Given the description of an element on the screen output the (x, y) to click on. 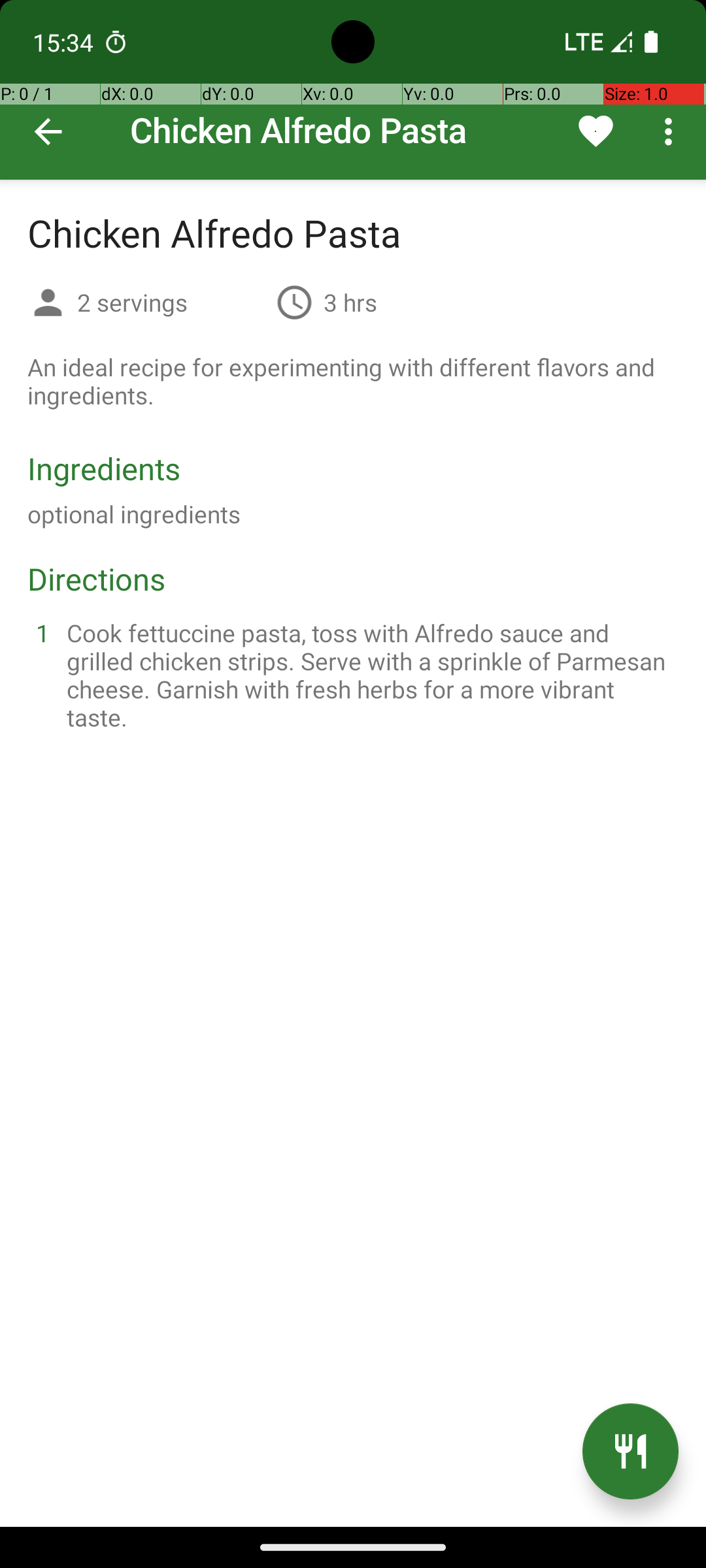
Cook fettuccine pasta, toss with Alfredo sauce and grilled chicken strips. Serve with a sprinkle of Parmesan cheese. Garnish with fresh herbs for a more vibrant taste. Element type: android.widget.TextView (368, 674)
